Given the description of an element on the screen output the (x, y) to click on. 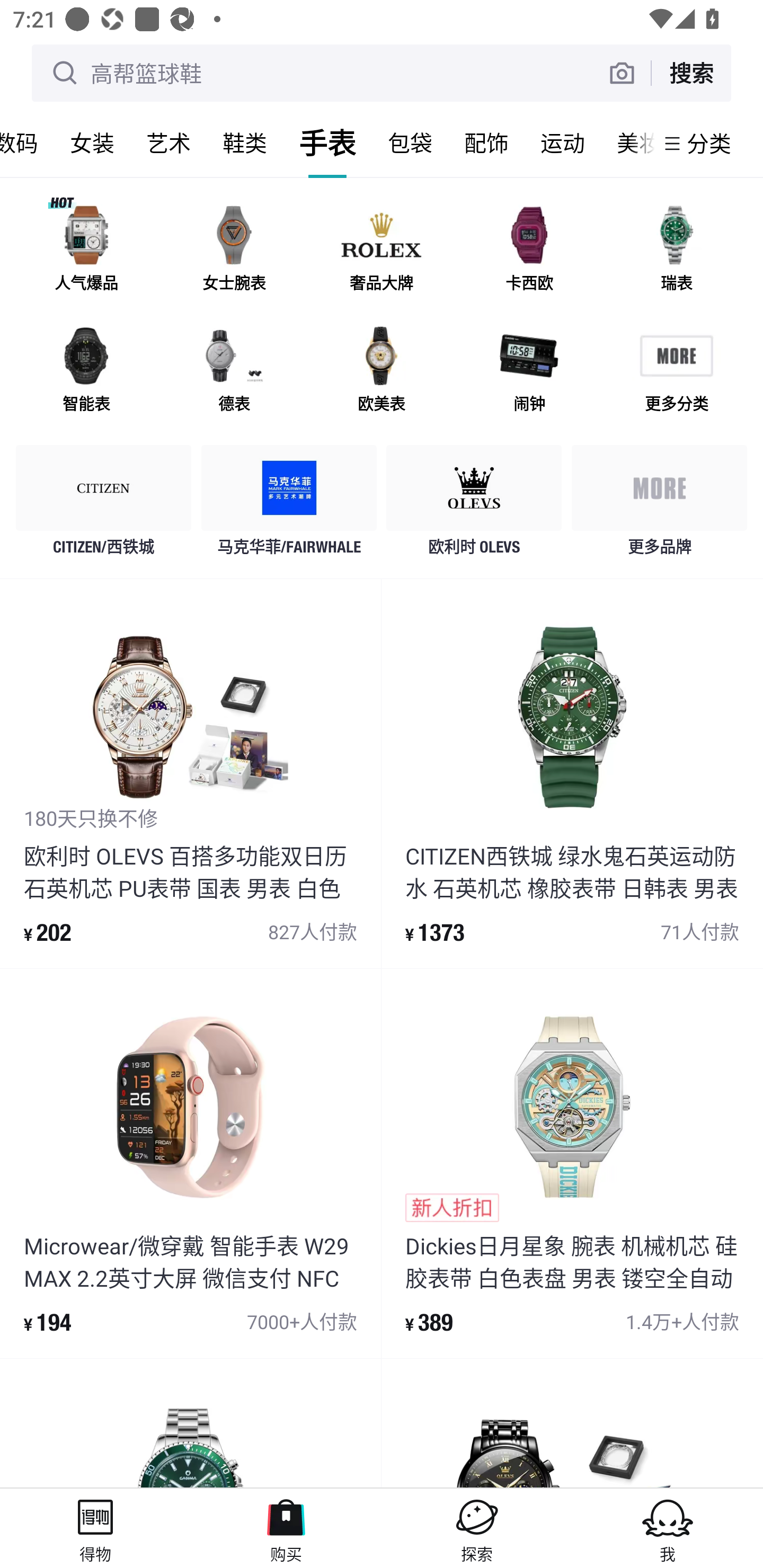
搜索 (690, 72)
数码 (27, 143)
女装 (92, 143)
艺术 (168, 143)
鞋类 (244, 143)
手表 (327, 143)
包袋 (410, 143)
配饰 (486, 143)
运动 (562, 143)
美妆 (627, 143)
分类 (708, 143)
人气爆品 (86, 251)
女士腕表 (233, 251)
奢品大牌 (381, 251)
卡西欧 (528, 251)
瑞表 (676, 251)
智能表 (86, 372)
德表 (233, 372)
欧美表 (381, 372)
闹钟 (528, 372)
更多分类 (676, 372)
CITIZEN/西铁城 (103, 505)
马克华菲/FAIRWHALE (288, 505)
欧利时 OLEVS (473, 505)
更多品牌 (658, 505)
得物 (95, 1528)
购买 (285, 1528)
探索 (476, 1528)
我 (667, 1528)
